Given the description of an element on the screen output the (x, y) to click on. 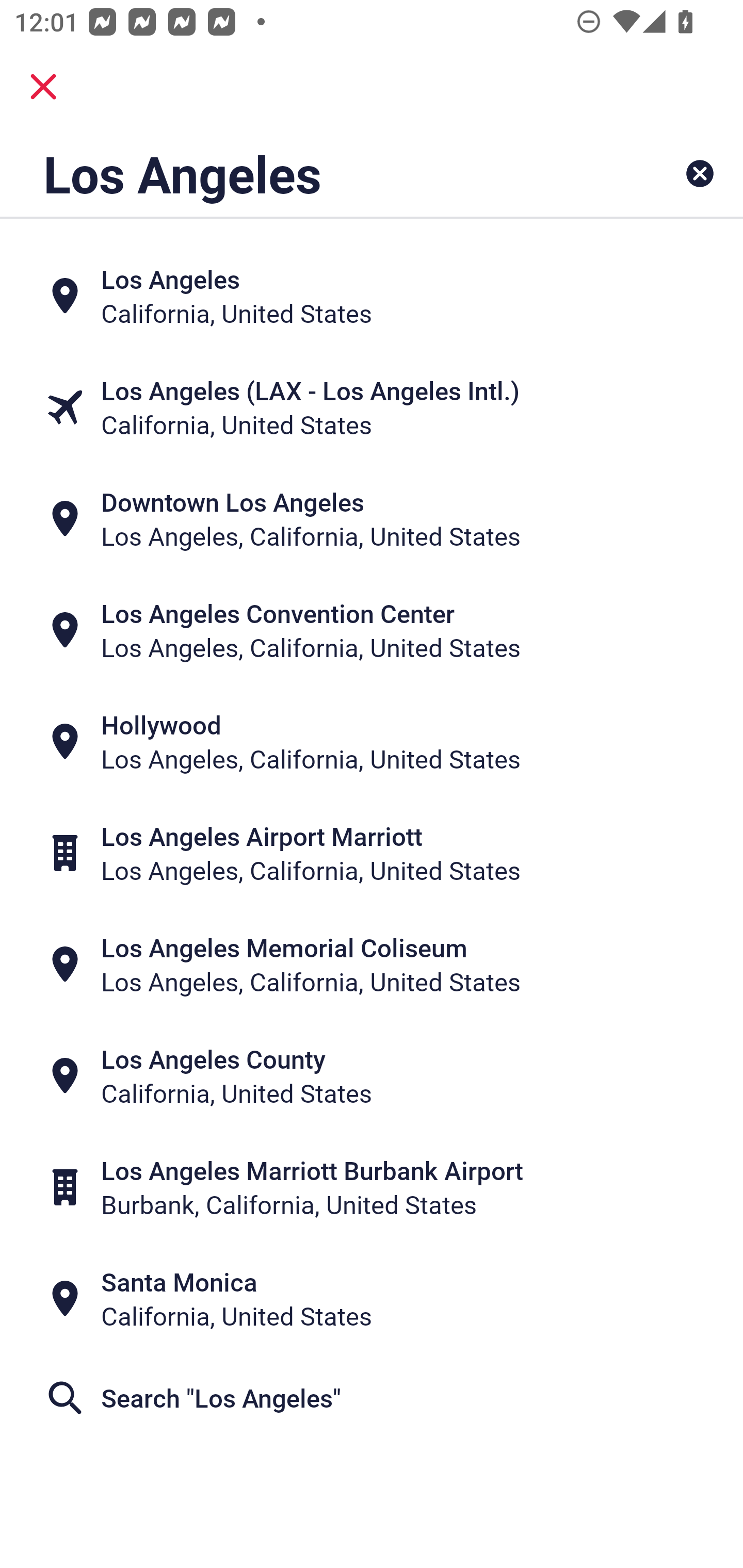
close. (43, 86)
Clear (699, 173)
Los Angeles (306, 173)
Los Angeles California, United States (371, 295)
Hollywood Los Angeles, California, United States (371, 742)
Los Angeles County California, United States (371, 1076)
Santa Monica California, United States (371, 1298)
Search "Los Angeles" (371, 1397)
